Given the description of an element on the screen output the (x, y) to click on. 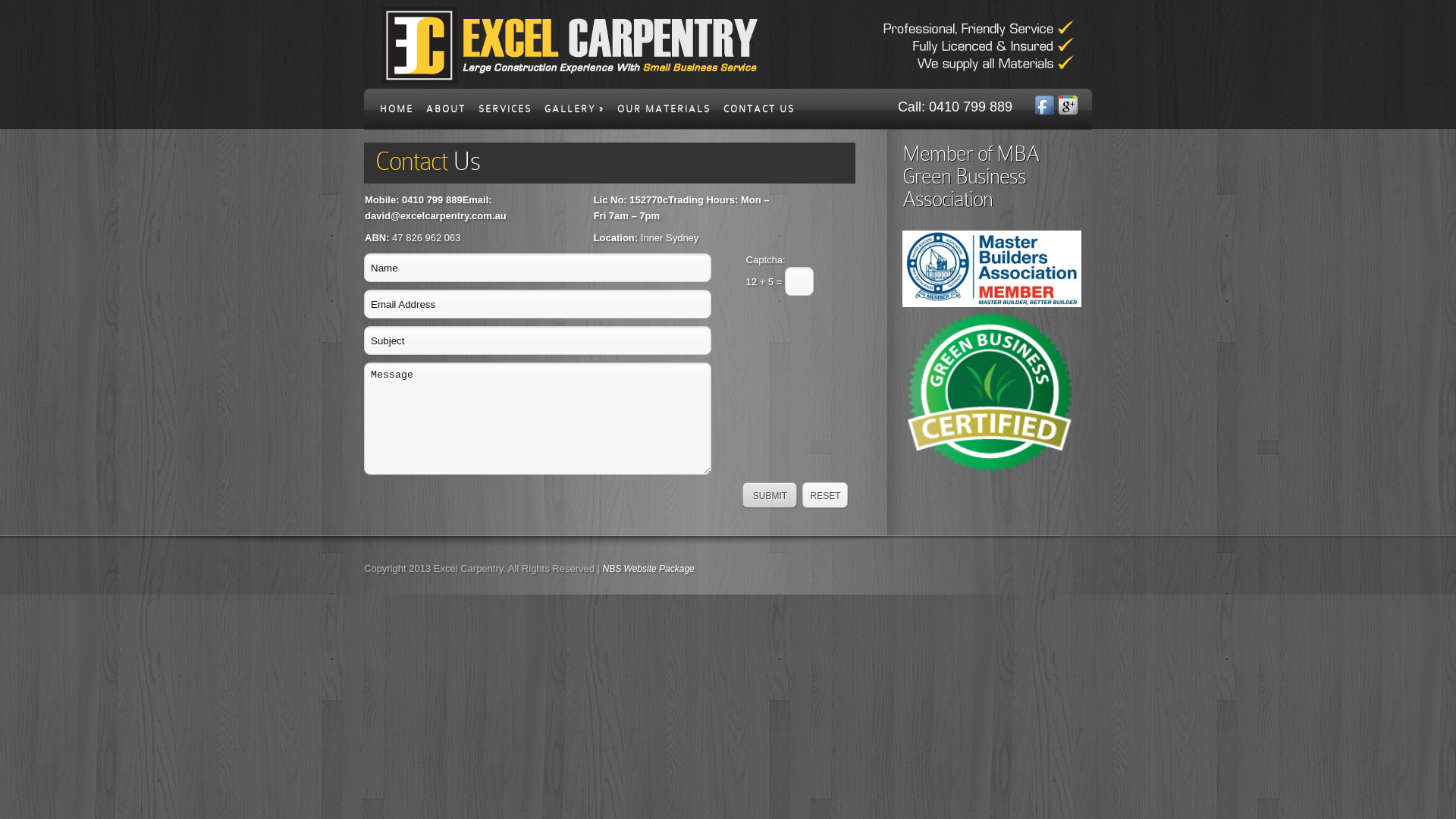
SERVICES Element type: text (504, 113)
Visit Us On Google Plus Element type: hover (1069, 110)
Visit Us On Facebook Element type: hover (1045, 110)
Submit Element type: text (769, 495)
OUR MATERIALS Element type: text (663, 113)
ABOUT Element type: text (445, 113)
NBS Website Package Element type: text (648, 568)
HOME Element type: text (396, 113)
CONTACT US Element type: text (758, 113)
